Given the description of an element on the screen output the (x, y) to click on. 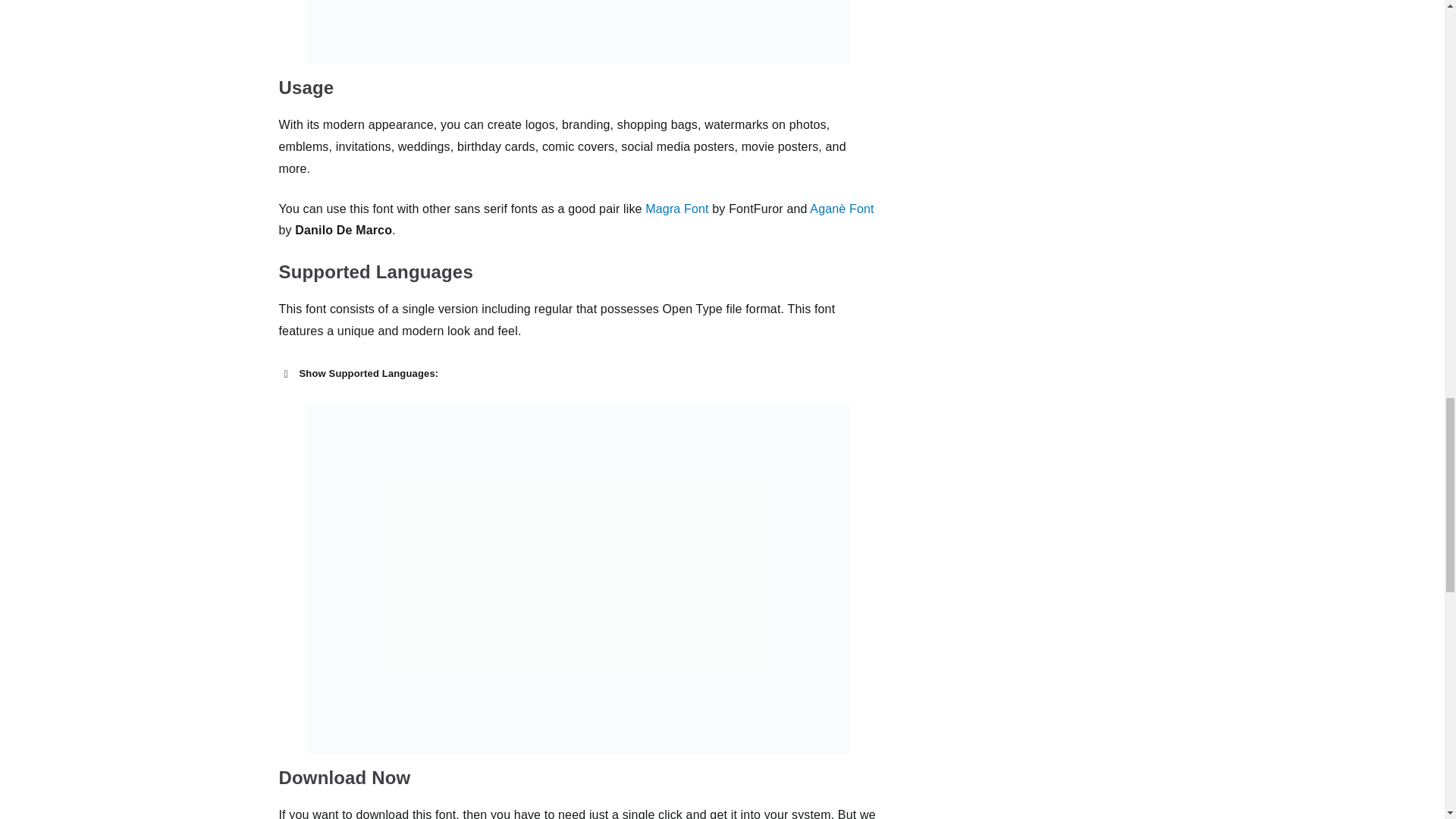
Magra Font (676, 208)
